Given the description of an element on the screen output the (x, y) to click on. 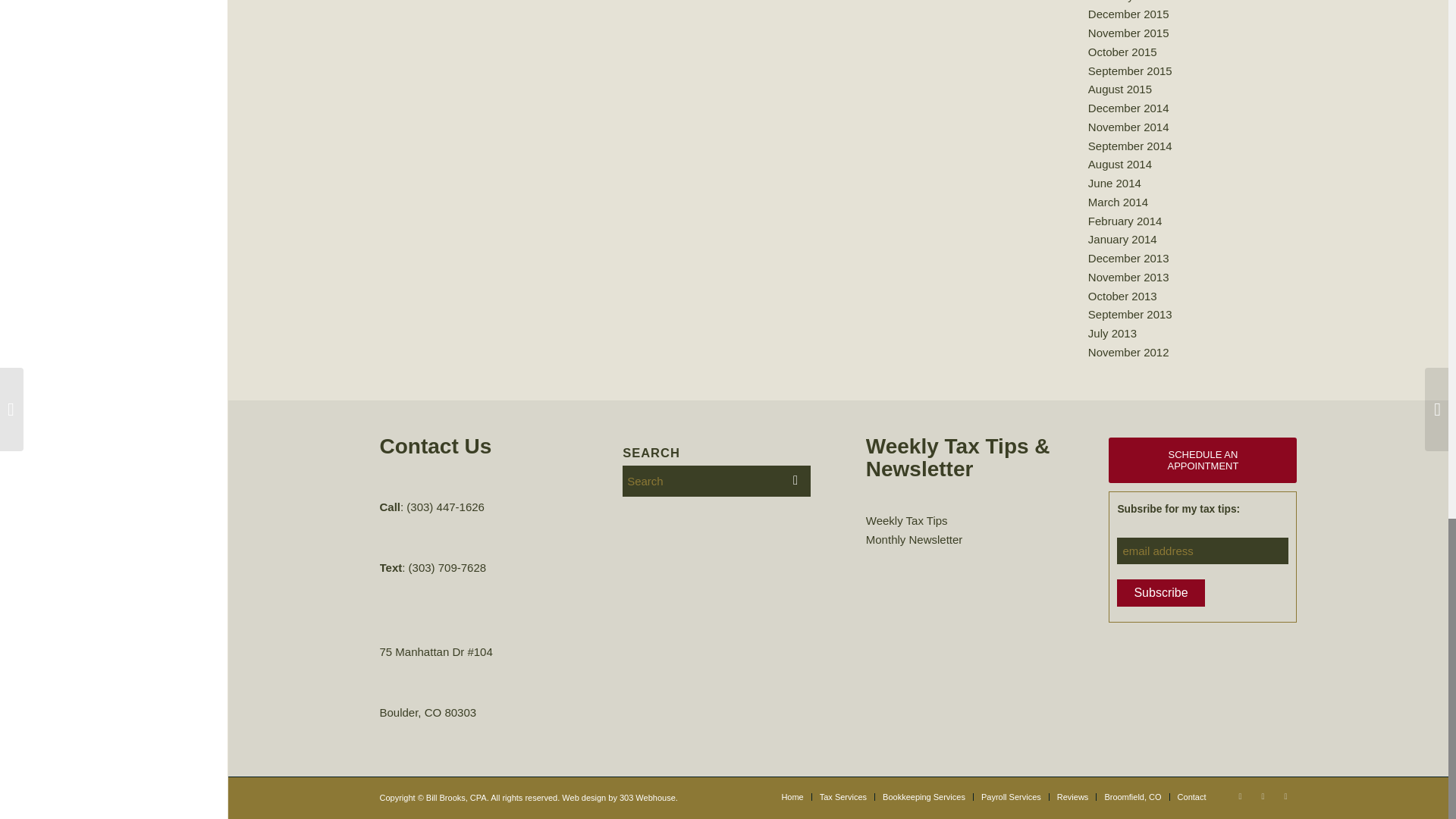
Youtube (1285, 795)
Twitter (1239, 795)
Subscribe (1160, 592)
Facebook (1262, 795)
